Given the description of an element on the screen output the (x, y) to click on. 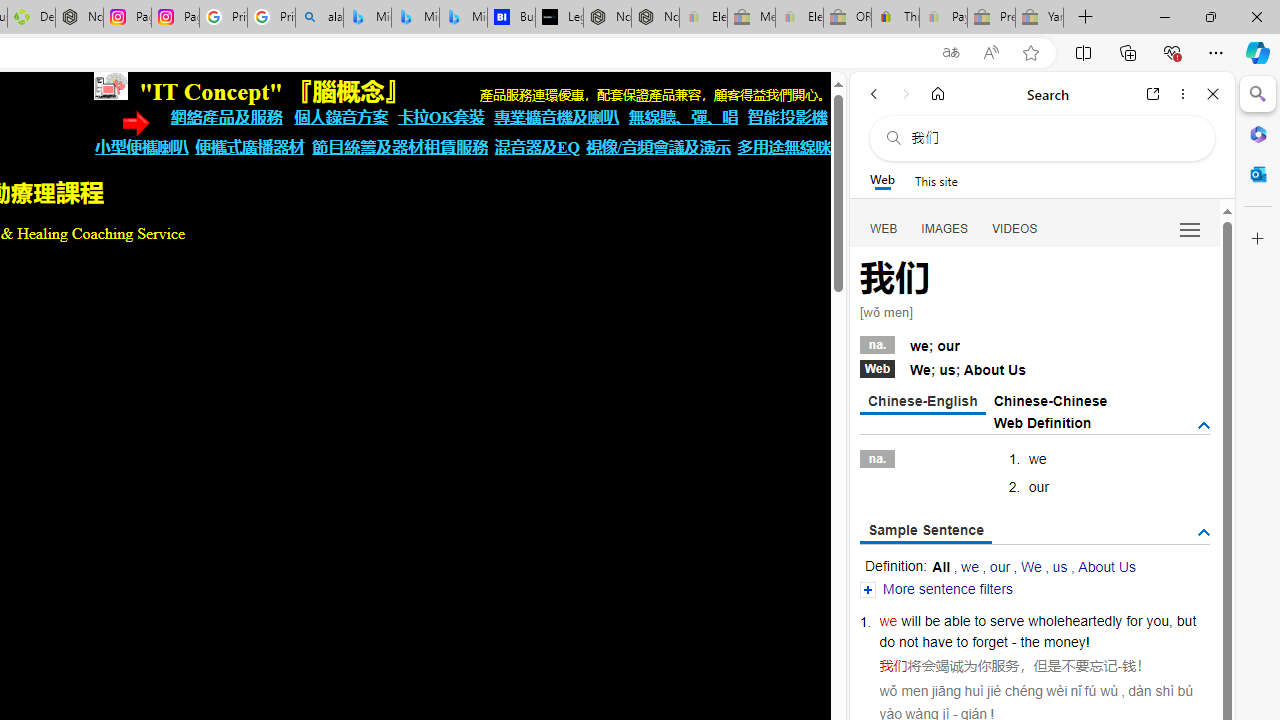
serve (1007, 620)
IMAGES (944, 228)
- (1119, 665)
Yard, Garden & Outdoor Living - Sleeping (1039, 17)
Search Filter, VIDEOS (1015, 228)
Us (1017, 370)
